Given the description of an element on the screen output the (x, y) to click on. 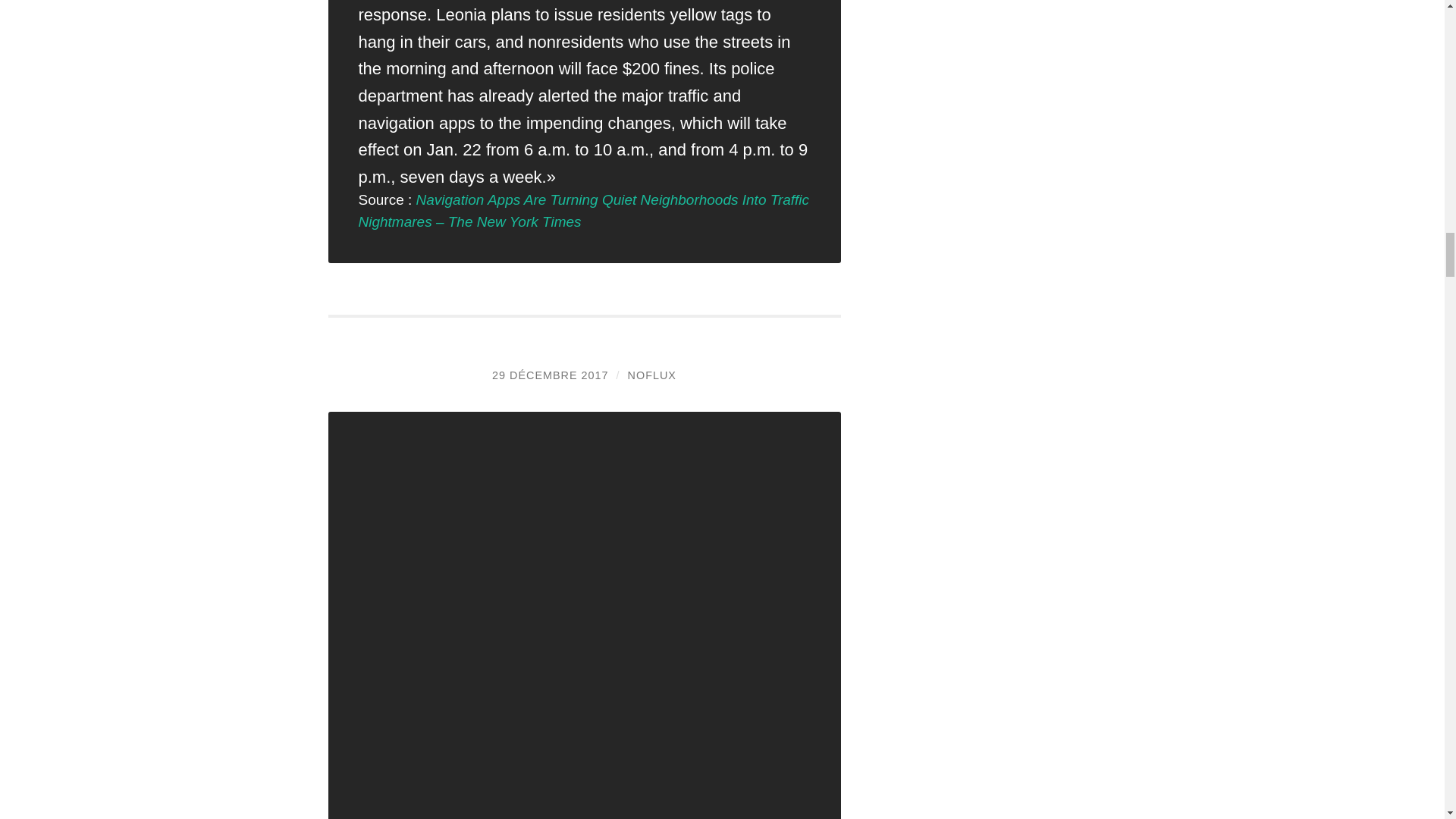
Articles par noflux (652, 375)
NOFLUX (652, 375)
